Given the description of an element on the screen output the (x, y) to click on. 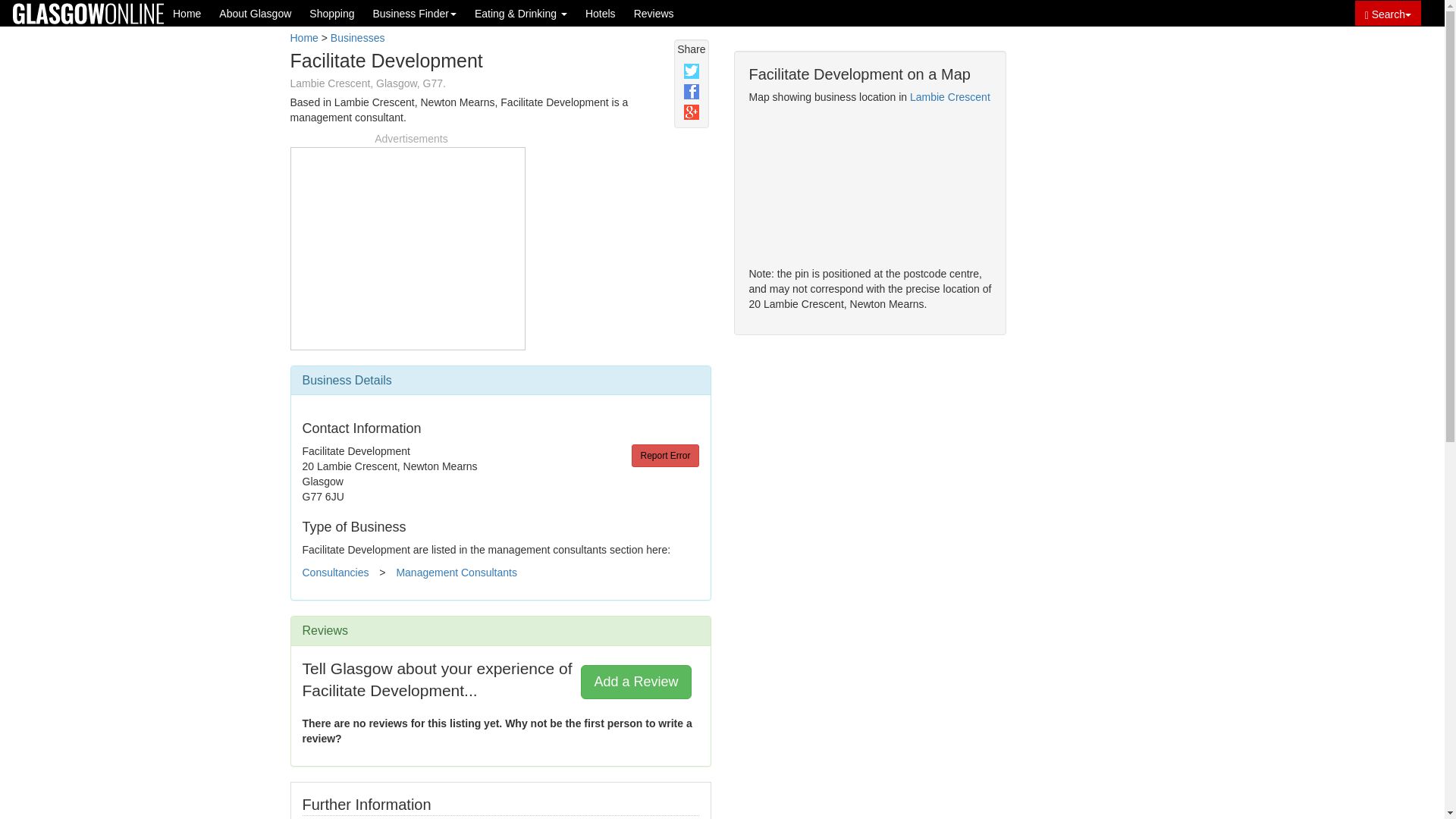
Lambie Crescent (950, 96)
Home (186, 12)
Consultancies (334, 572)
Report Error (664, 455)
Hotels (600, 12)
Business Finder (413, 12)
Search (1388, 12)
Add a Review (635, 681)
Management Consultants (456, 572)
About Glasgow (254, 12)
Businesses (357, 37)
Home (303, 37)
Shopping (330, 12)
Advertisement (407, 246)
Advertisement (1091, 296)
